Given the description of an element on the screen output the (x, y) to click on. 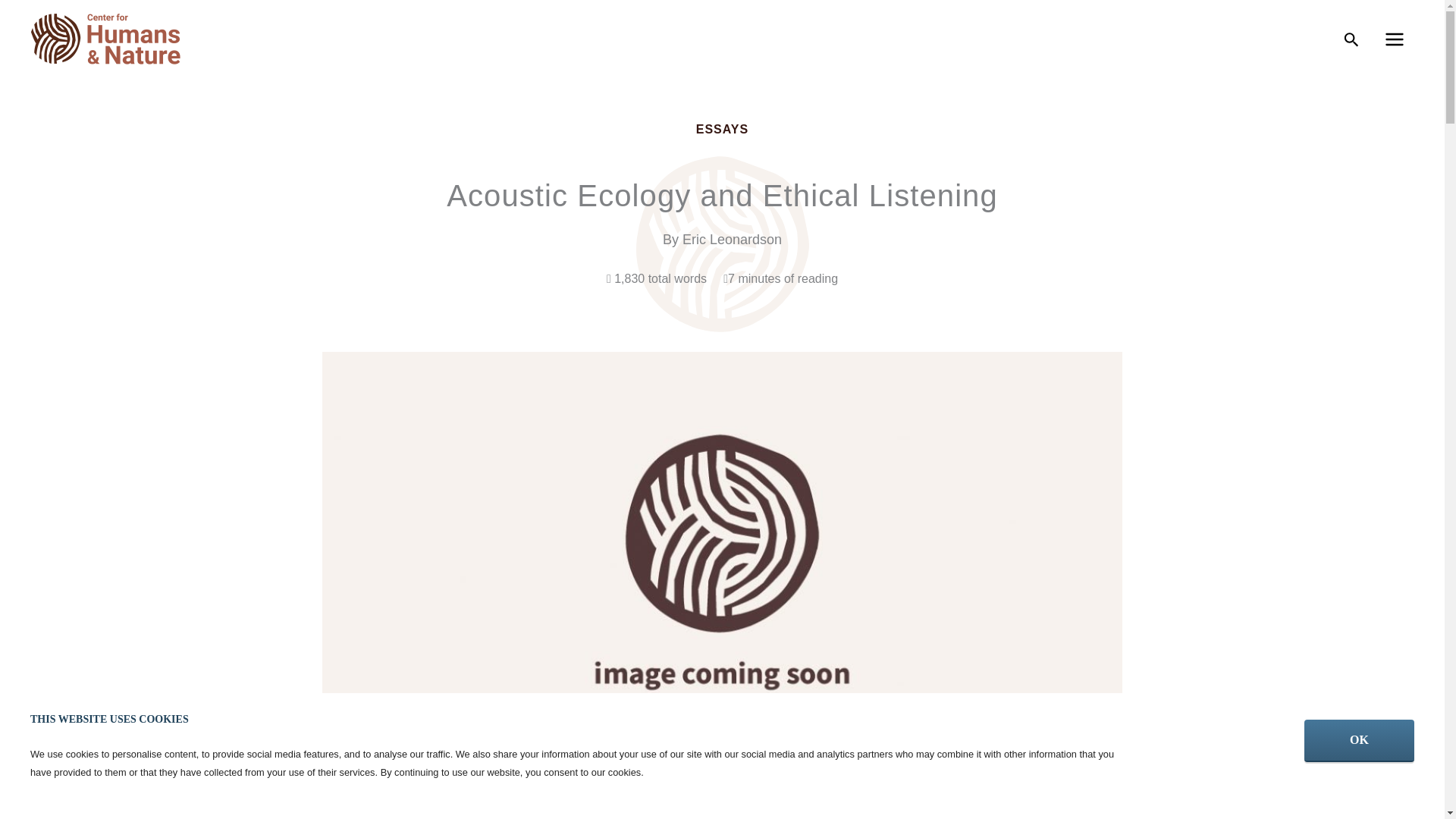
Main Menu (1393, 39)
ESSAYS (721, 128)
OK (1358, 740)
